Given the description of an element on the screen output the (x, y) to click on. 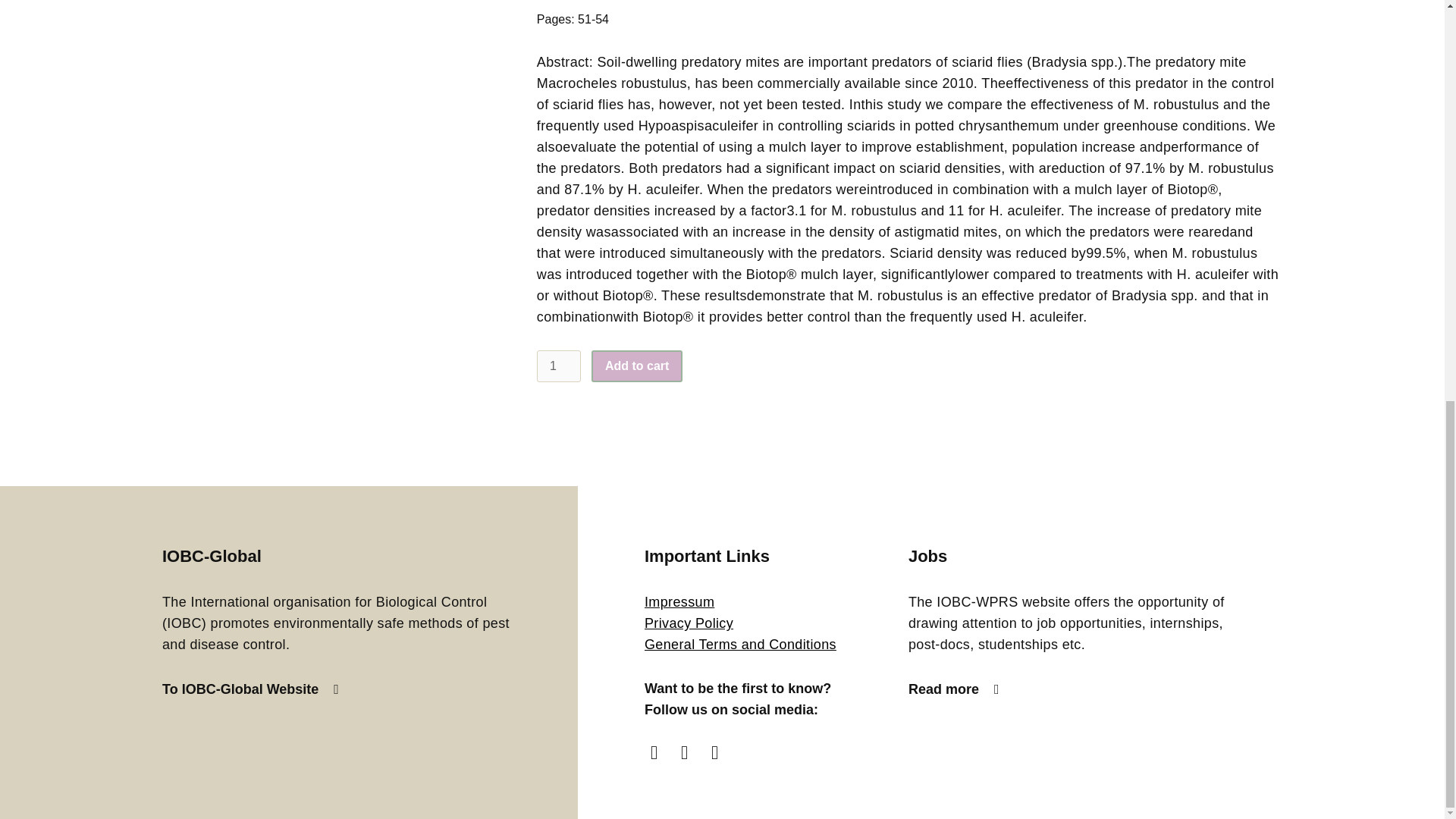
Qty (558, 366)
1 (558, 366)
